Given the description of an element on the screen output the (x, y) to click on. 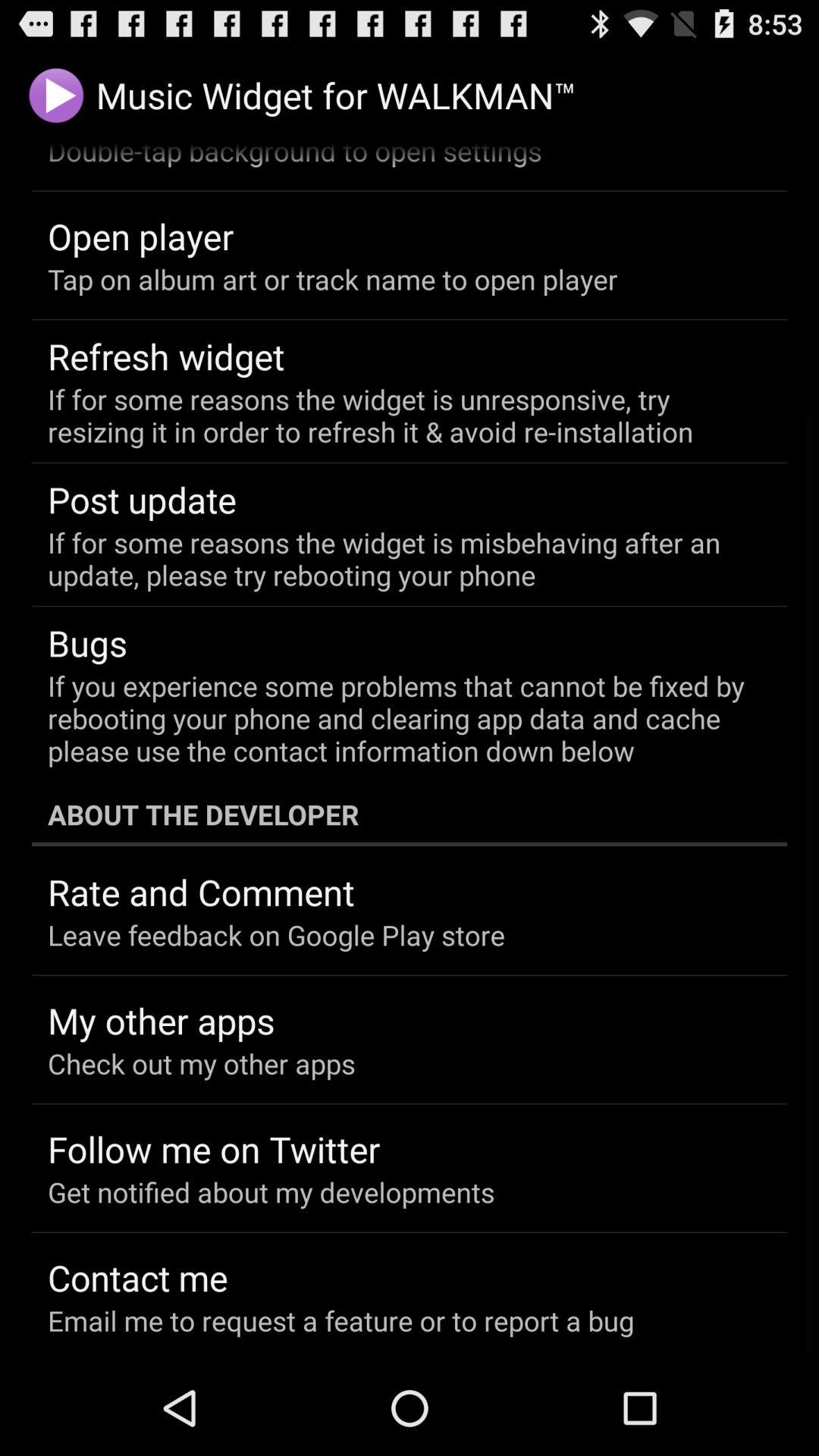
turn off icon above my other apps app (276, 934)
